Given the description of an element on the screen output the (x, y) to click on. 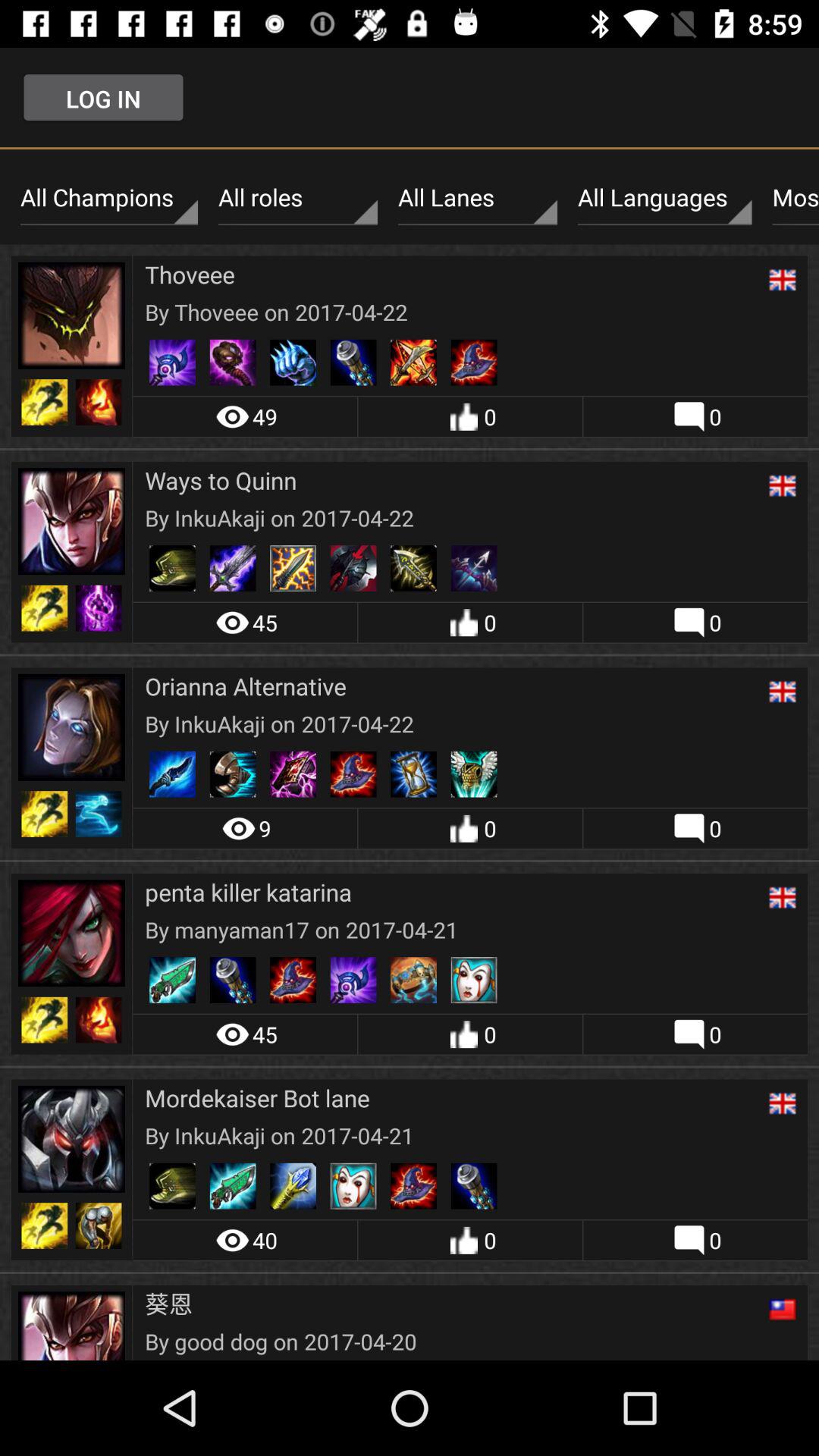
launch item to the right of all champions icon (297, 198)
